Given the description of an element on the screen output the (x, y) to click on. 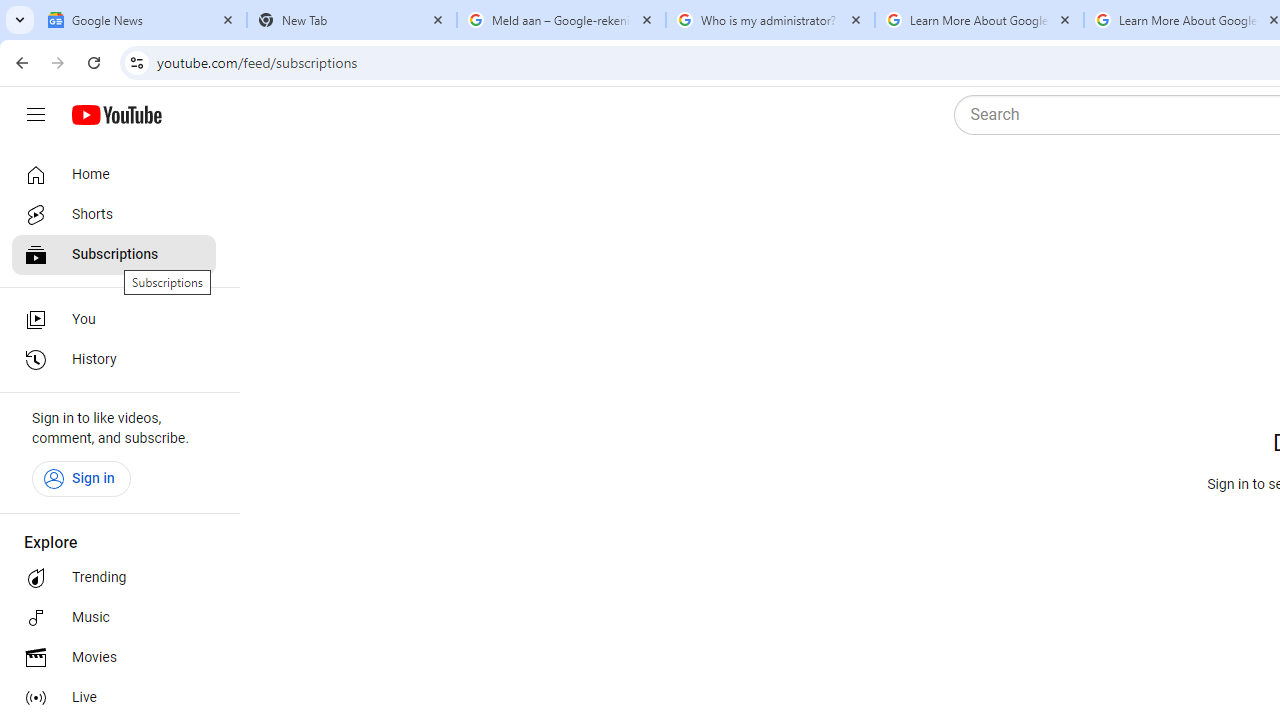
Undo Apply Quick Style Set (280, 31)
